Given the description of an element on the screen output the (x, y) to click on. 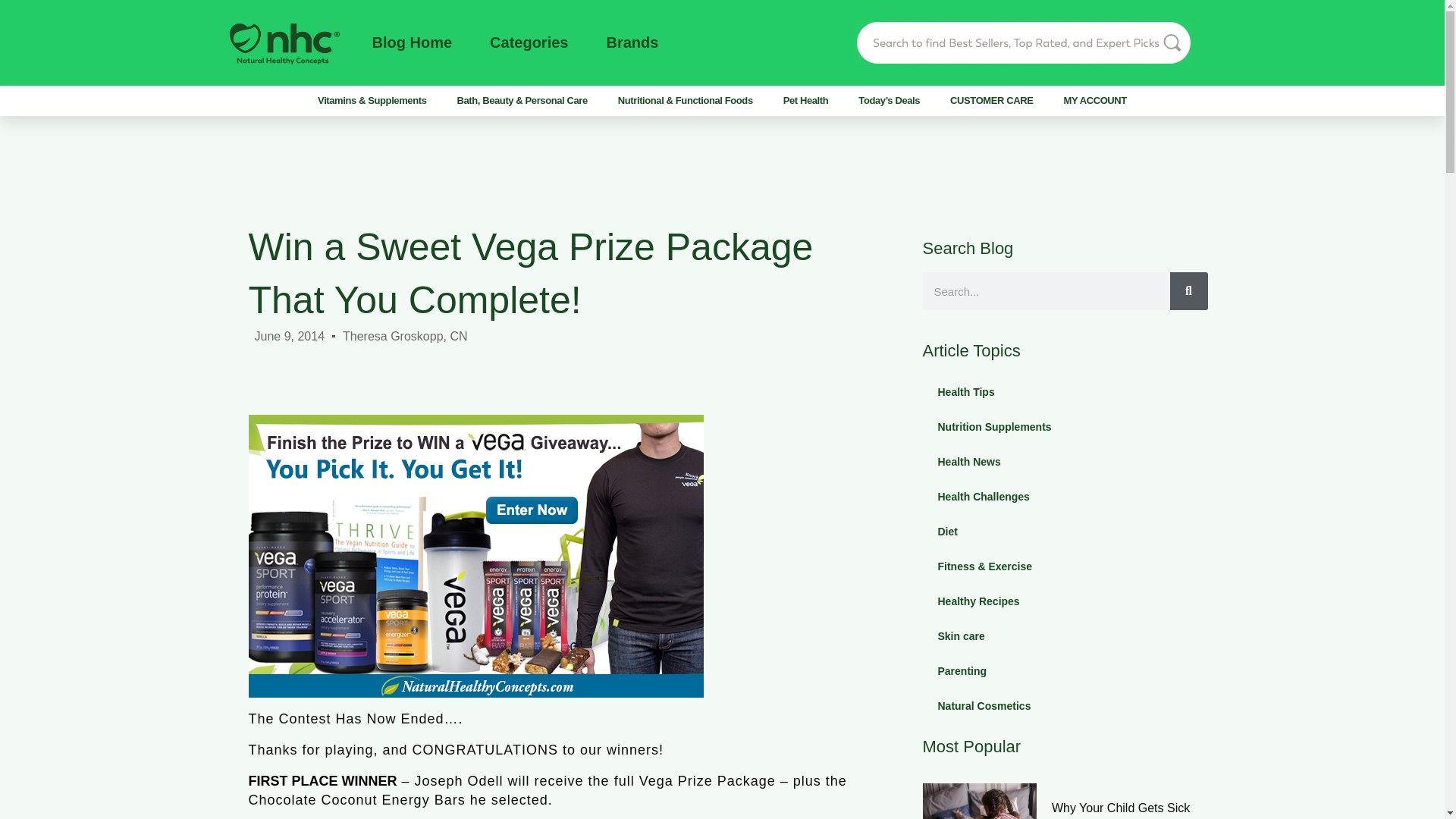
June 9, 2014 (289, 335)
CUSTOMER CARE (991, 100)
Blog Home (411, 42)
MY ACCOUNT (1094, 100)
Theresa Groskopp, CN (404, 335)
Categories (528, 42)
Pet Health (806, 100)
